Given the description of an element on the screen output the (x, y) to click on. 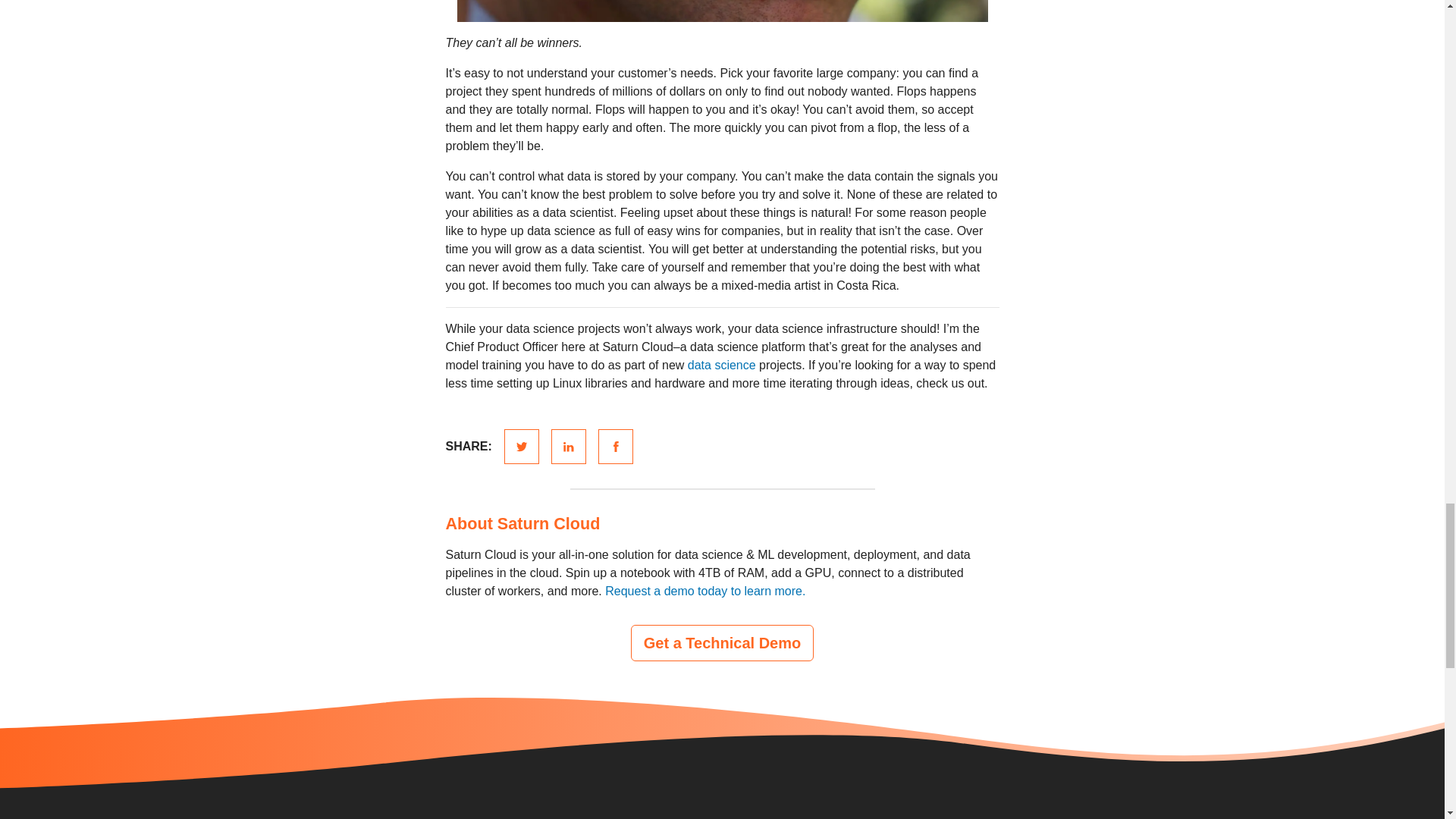
Get a Technical Demo (721, 642)
Request a demo today to learn more. (705, 590)
data science (721, 364)
